Given the description of an element on the screen output the (x, y) to click on. 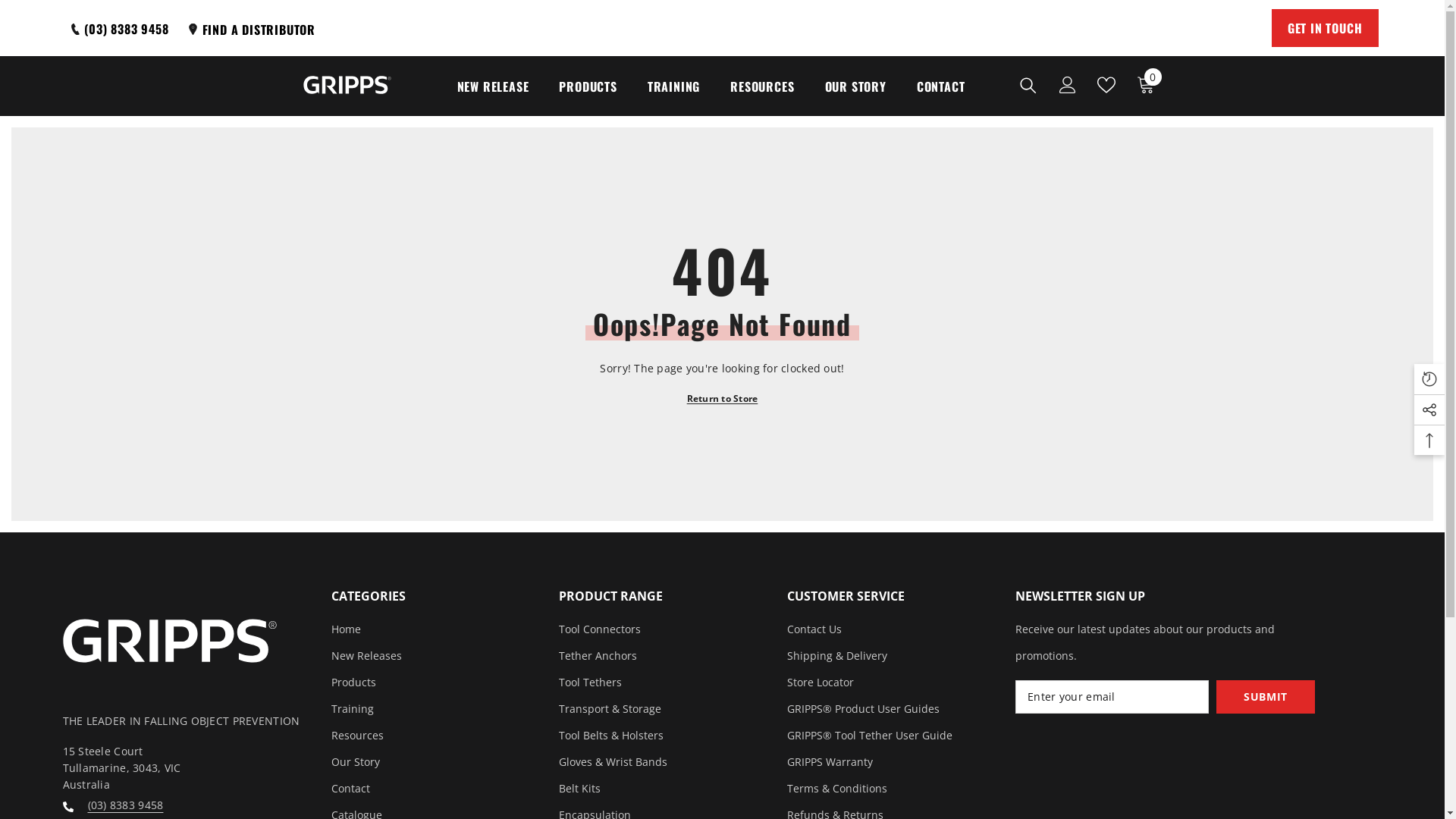
Tool Connectors Element type: text (599, 628)
New Releases Element type: text (365, 655)
RESOURCES Element type: text (762, 96)
Return to Store Element type: text (722, 398)
Cart
0
0 items Element type: text (1144, 84)
Transport & Storage Element type: text (609, 708)
GRIPPS Warranty Element type: text (829, 761)
Wish Lists Element type: text (1105, 84)
Terms & Conditions Element type: text (837, 788)
Contact Us Element type: text (814, 628)
Home Element type: text (345, 628)
Gloves & Wrist Bands Element type: text (612, 761)
Contact Element type: text (349, 788)
Belt Kits Element type: text (579, 788)
SUBMIT Element type: text (1265, 696)
(03) 8383 9458 Element type: text (125, 804)
Store Locator Element type: text (820, 681)
Tether Anchors Element type: text (597, 655)
CONTACT Element type: text (940, 96)
Log in Element type: text (1066, 84)
Our Story Element type: text (354, 761)
NEW RELEASE Element type: text (493, 96)
Tool Tethers Element type: text (589, 681)
Shipping & Delivery Element type: text (837, 655)
GET IN TOUCH Element type: text (1324, 28)
TRAINING Element type: text (673, 96)
PRODUCTS Element type: text (587, 96)
Tool Belts & Holsters Element type: text (610, 734)
Resources Element type: text (356, 734)
OUR STORY Element type: text (855, 96)
Products Element type: text (352, 681)
Training Element type: text (351, 708)
